Given the description of an element on the screen output the (x, y) to click on. 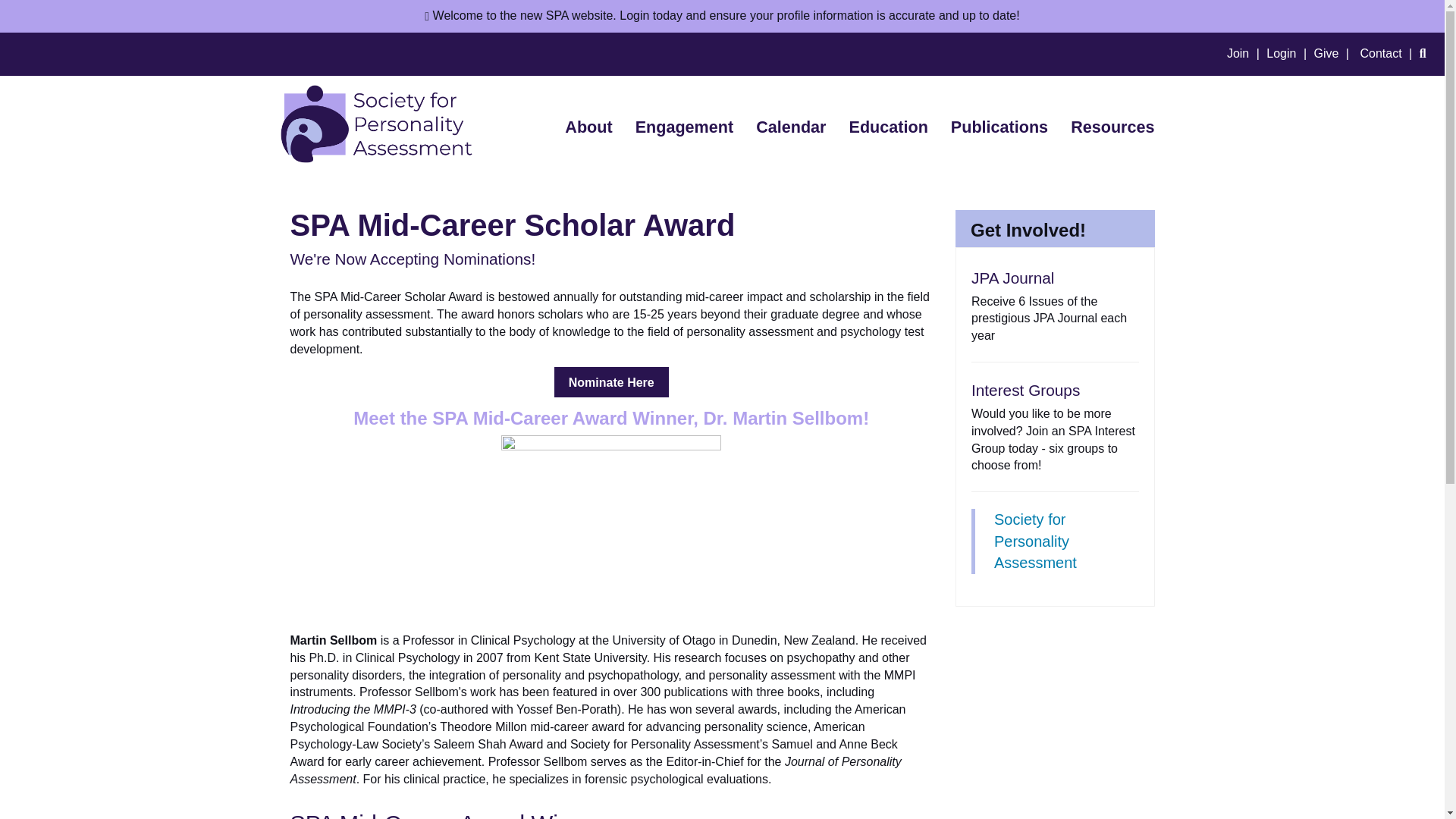
About (588, 127)
Engagement (684, 127)
Login (1288, 52)
Contact (1387, 52)
Give (1334, 53)
Join (1245, 52)
